Given the description of an element on the screen output the (x, y) to click on. 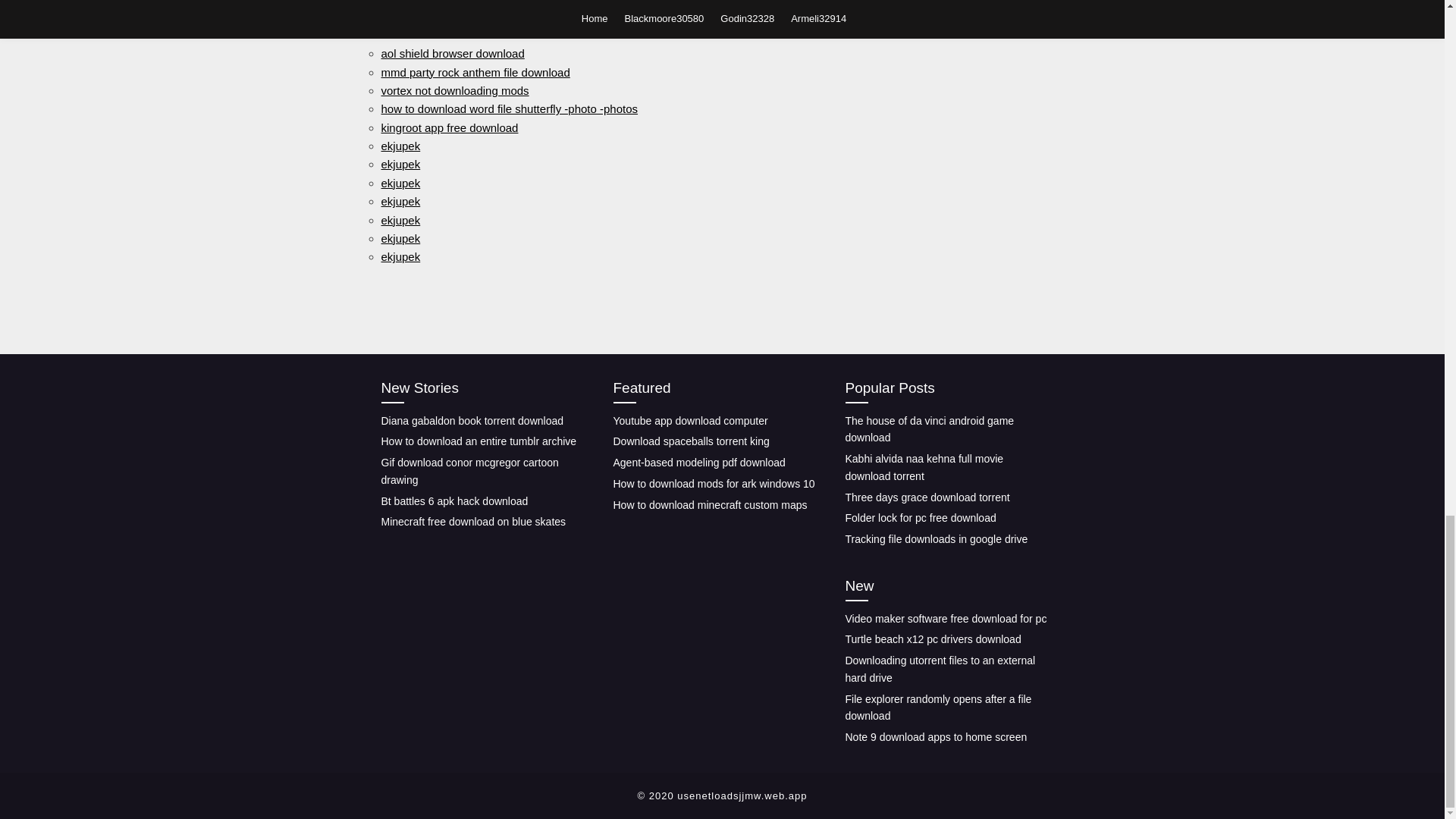
Downloading utorrent files to an external hard drive (939, 668)
ekjupek (400, 237)
vortex not downloading mods (454, 90)
ekjupek (400, 145)
Turtle beach x12 pc drivers download (932, 639)
The house of da vinci android game download (928, 429)
Tracking file downloads in google drive (935, 539)
File explorer randomly opens after a file download (937, 707)
Folder lock for pc free download (919, 517)
ekjupek (400, 164)
Bt battles 6 apk hack download (453, 500)
Gif download conor mcgregor cartoon drawing (468, 471)
how to download word file shutterfly -photo -photos (508, 108)
Kabhi alvida naa kehna full movie download torrent (923, 467)
ekjupek (400, 182)
